Given the description of an element on the screen output the (x, y) to click on. 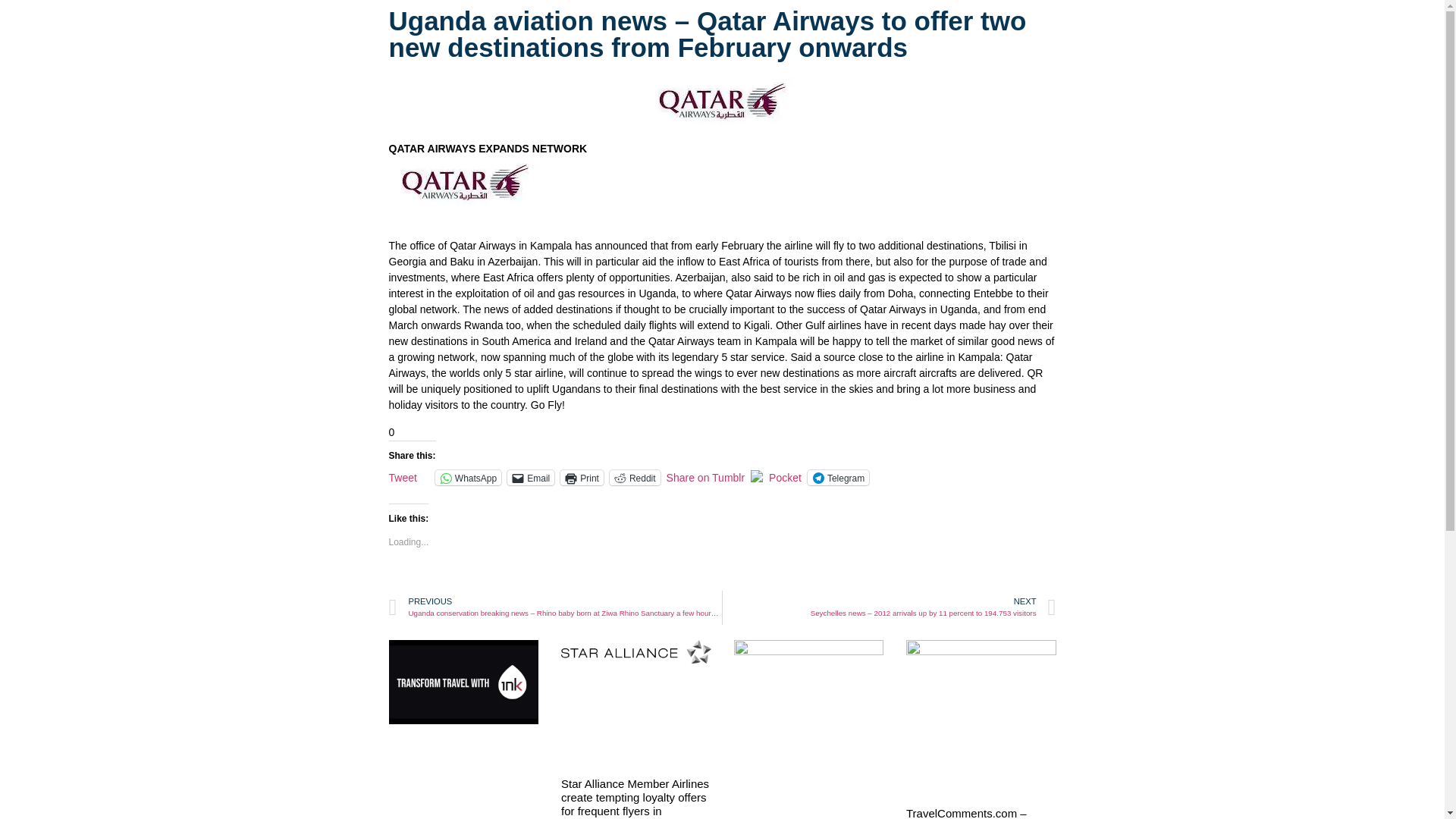
Click to share on Telegram (838, 477)
Click to share on Reddit (635, 477)
Share on Tumblr (705, 477)
Click to share on WhatsApp (467, 477)
clip image0023 (464, 182)
Share on Tumblr (705, 477)
Pocket (785, 477)
Print (582, 477)
Reddit (635, 477)
